Given the description of an element on the screen output the (x, y) to click on. 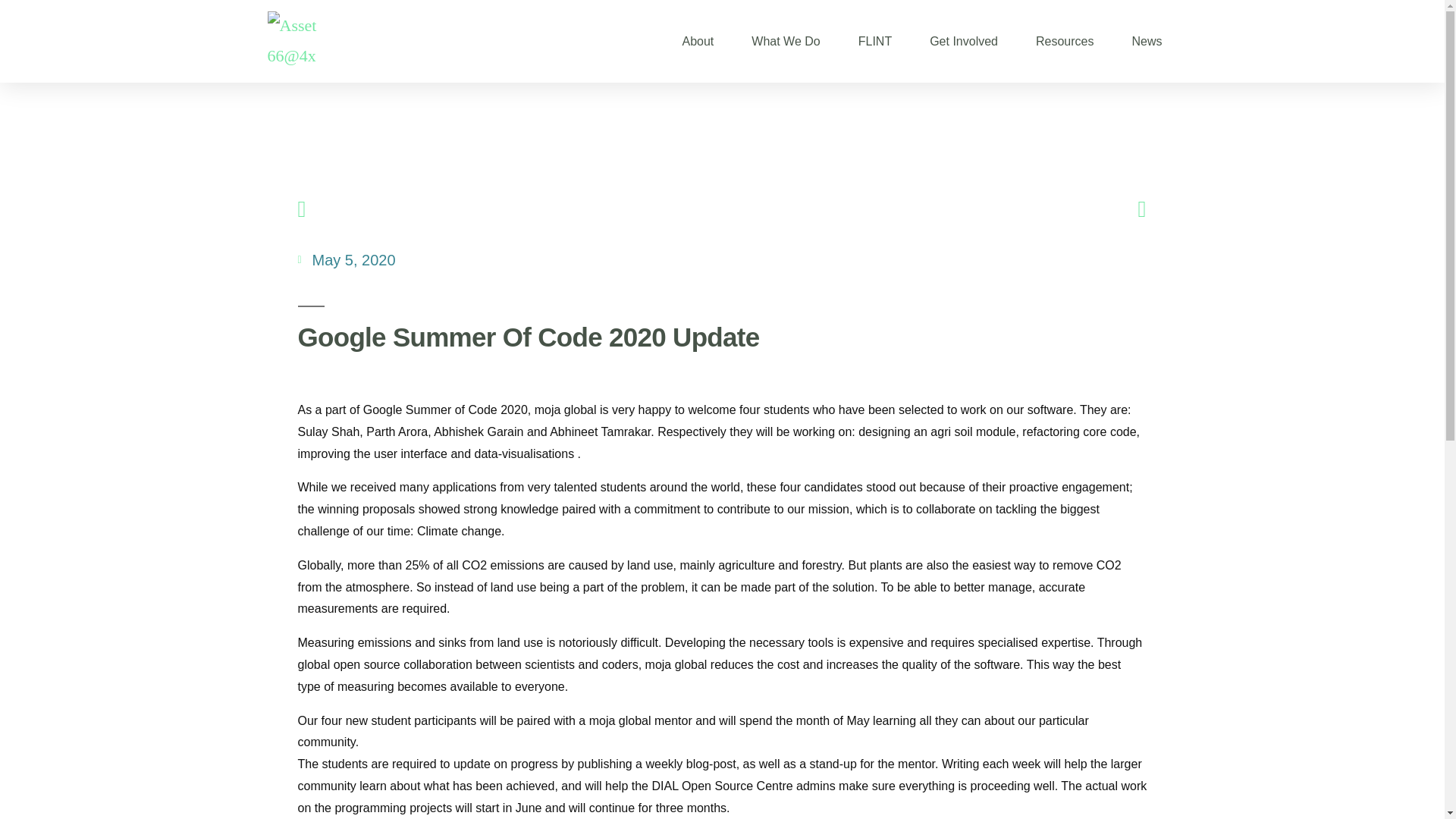
Resources (1064, 41)
FLINT (875, 41)
What We Do (785, 41)
About (698, 41)
May 5, 2020 (345, 259)
Get Involved (963, 41)
